Given the description of an element on the screen output the (x, y) to click on. 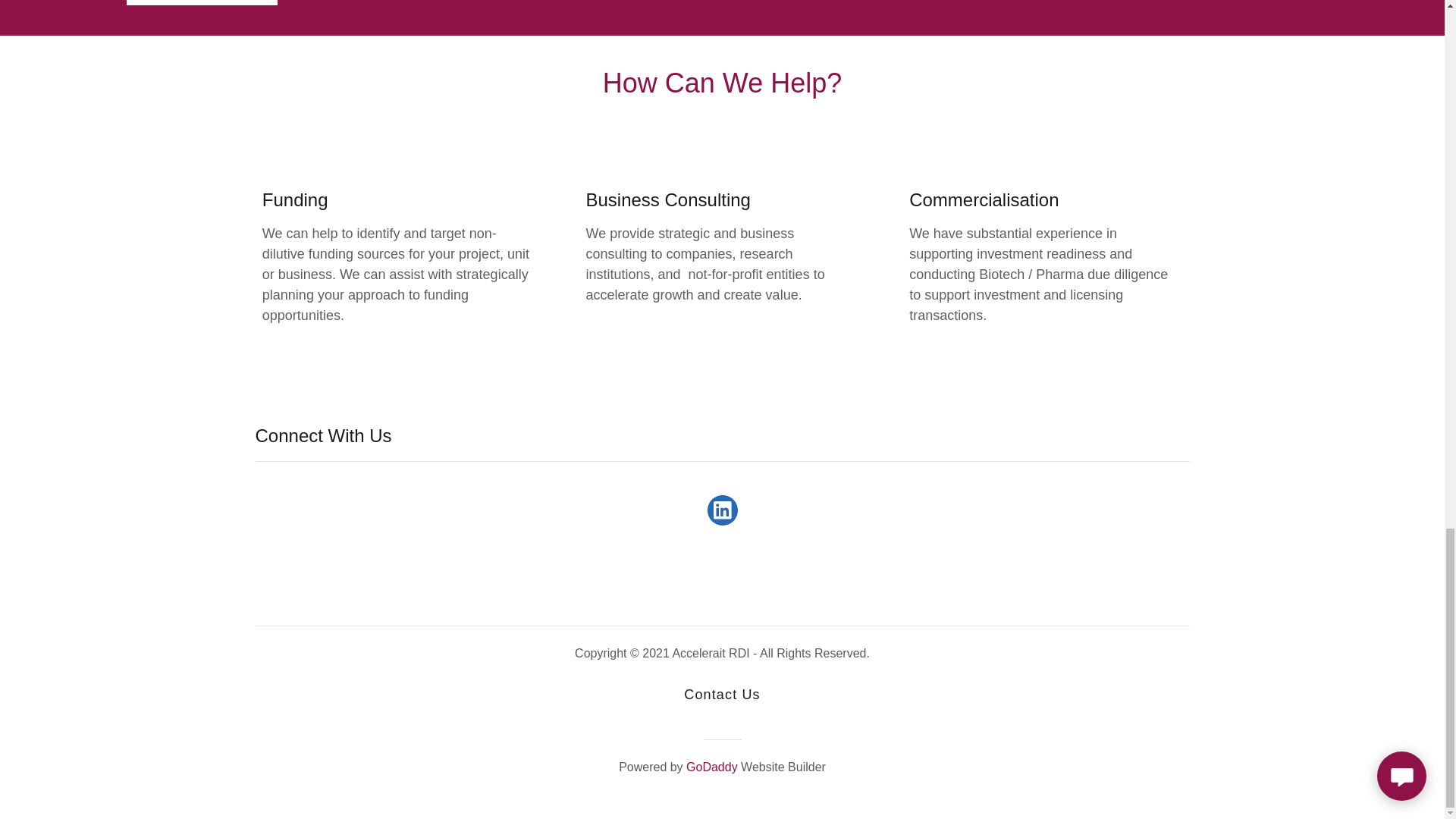
Find out more (202, 2)
GoDaddy (711, 766)
Business Consulting (680, 200)
Commercialisation (1004, 200)
Funding (357, 200)
Contact Us (721, 694)
